Given the description of an element on the screen output the (x, y) to click on. 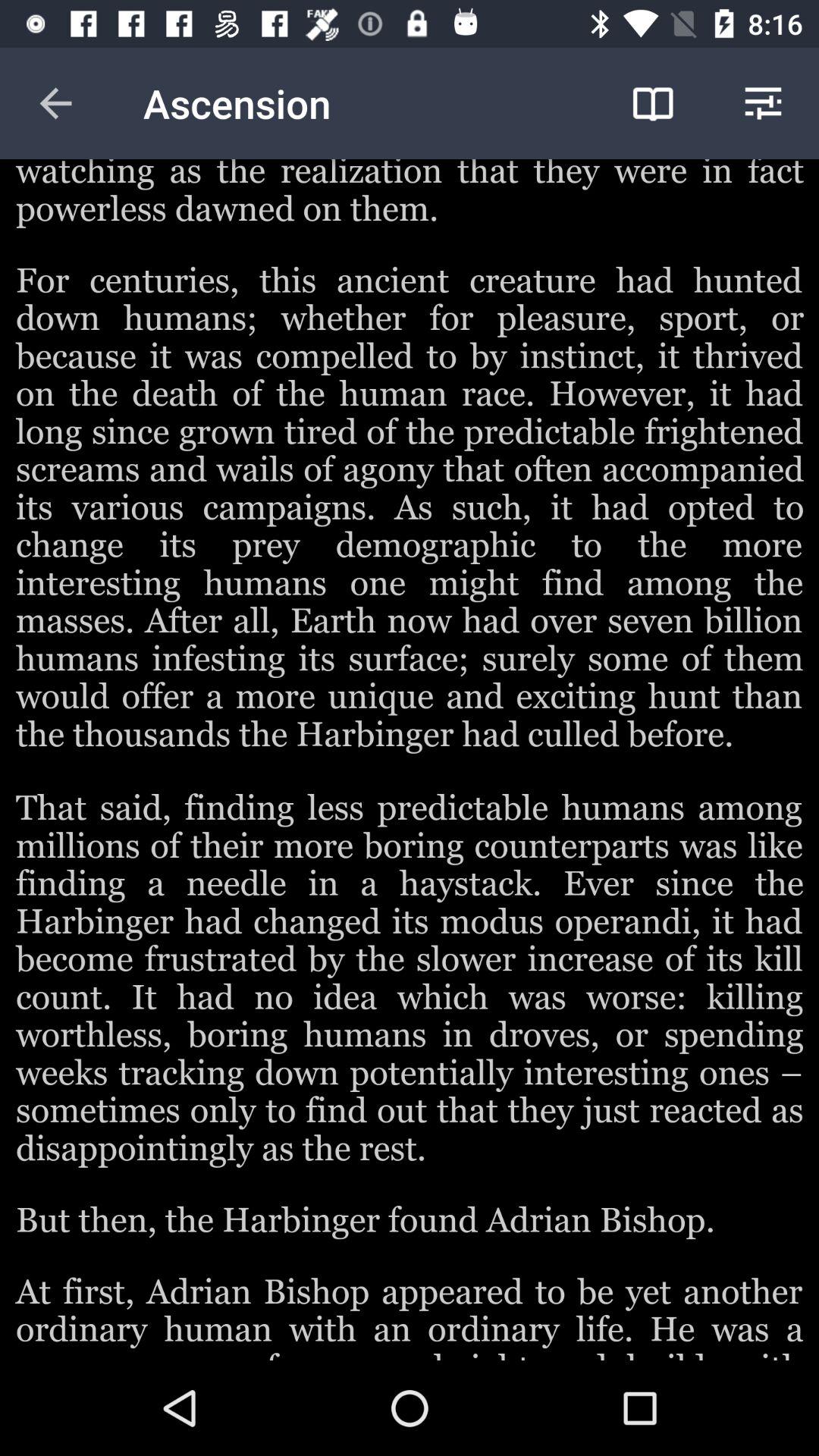
colour pinter (409, 759)
